Given the description of an element on the screen output the (x, y) to click on. 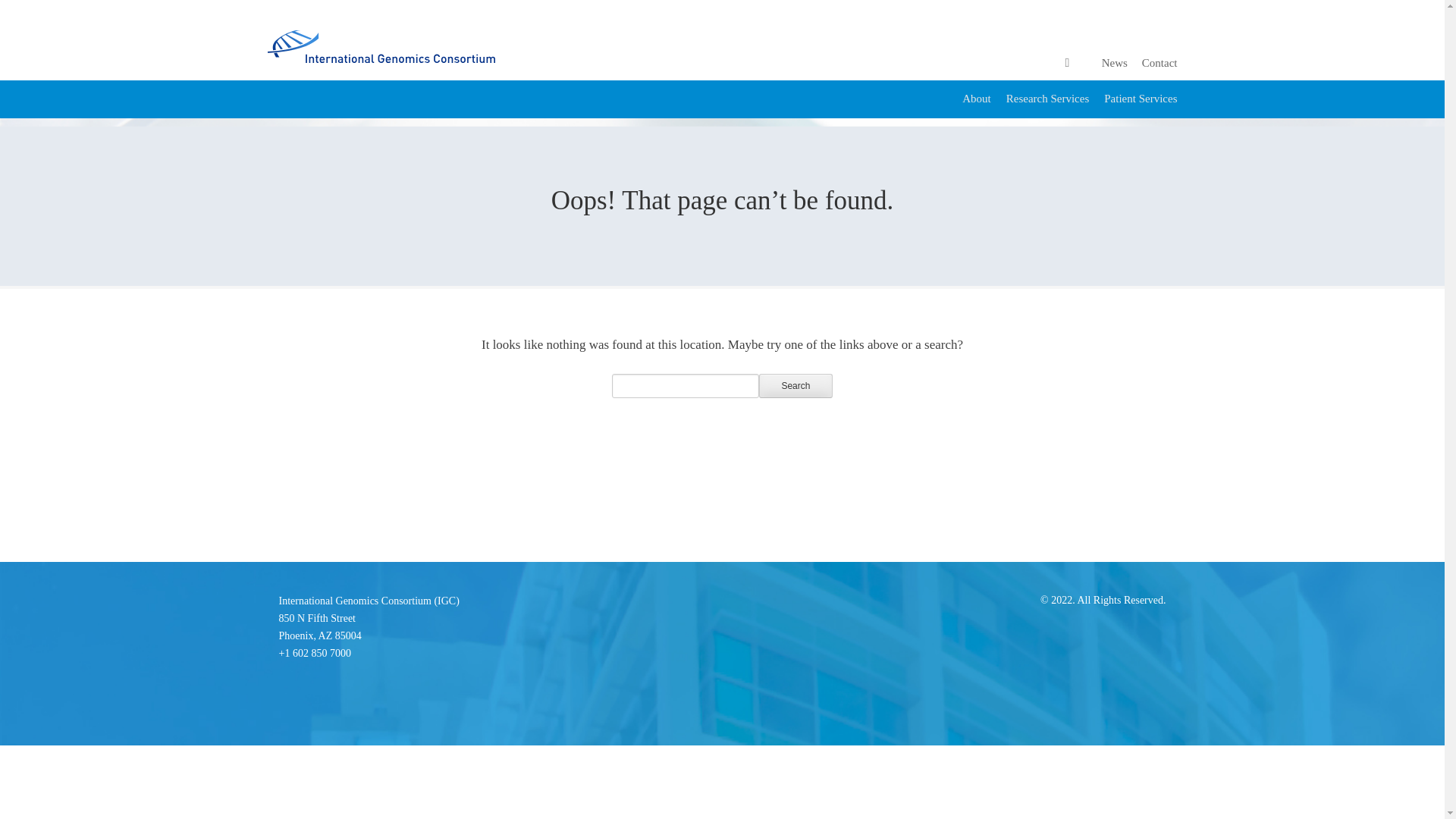
Search (795, 385)
Research Services (1047, 98)
Search (795, 385)
Contact (1159, 62)
Search (795, 385)
News (1114, 62)
Patient Services (320, 626)
